Given the description of an element on the screen output the (x, y) to click on. 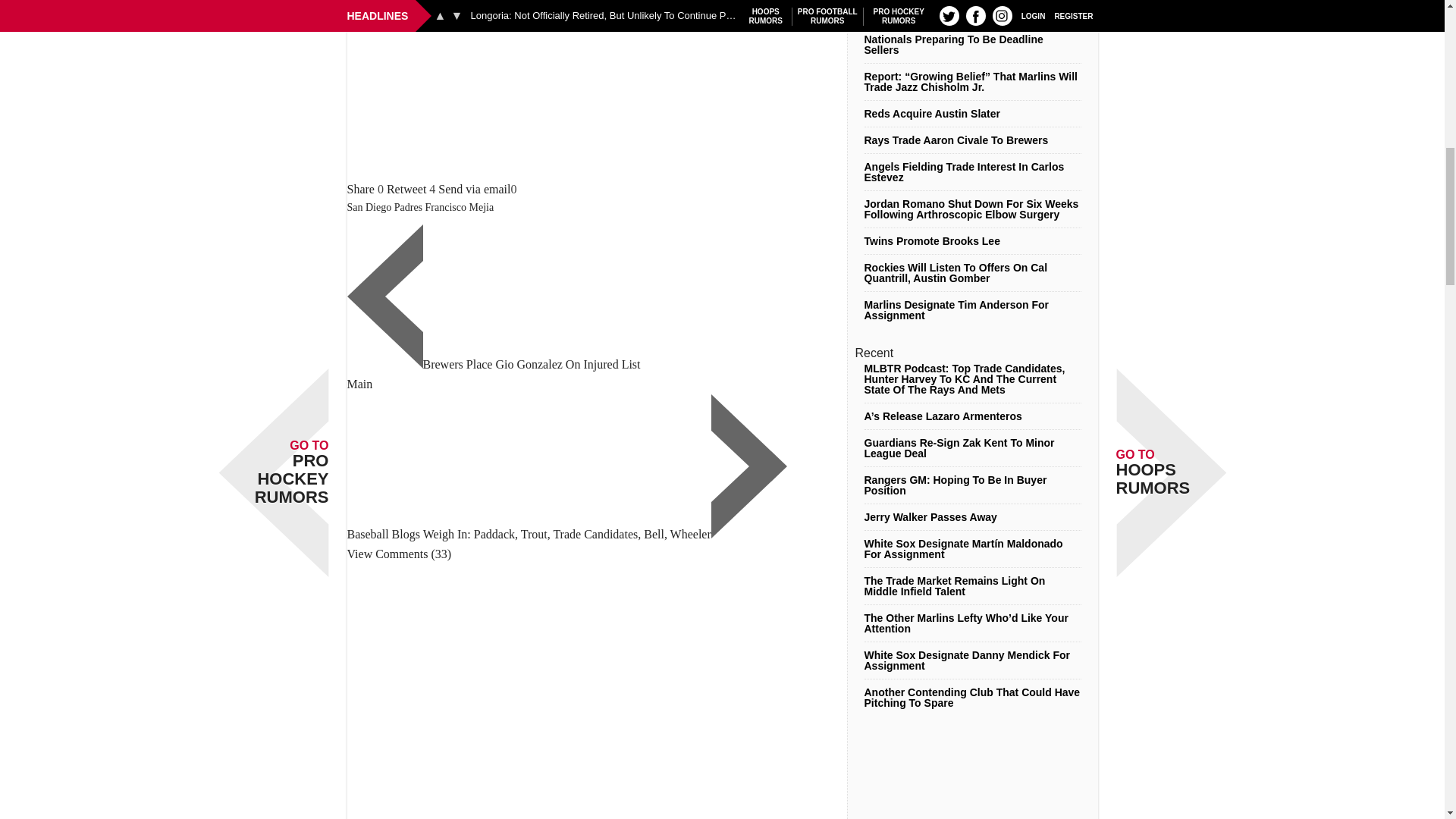
Retweet 'Padres Option Francisco Mejia' on Twitter (406, 188)
Share 'Padres Option Francisco Mejia' on Facebook (360, 188)
Send Padres Option Francisco Mejia with an email (474, 188)
